Given the description of an element on the screen output the (x, y) to click on. 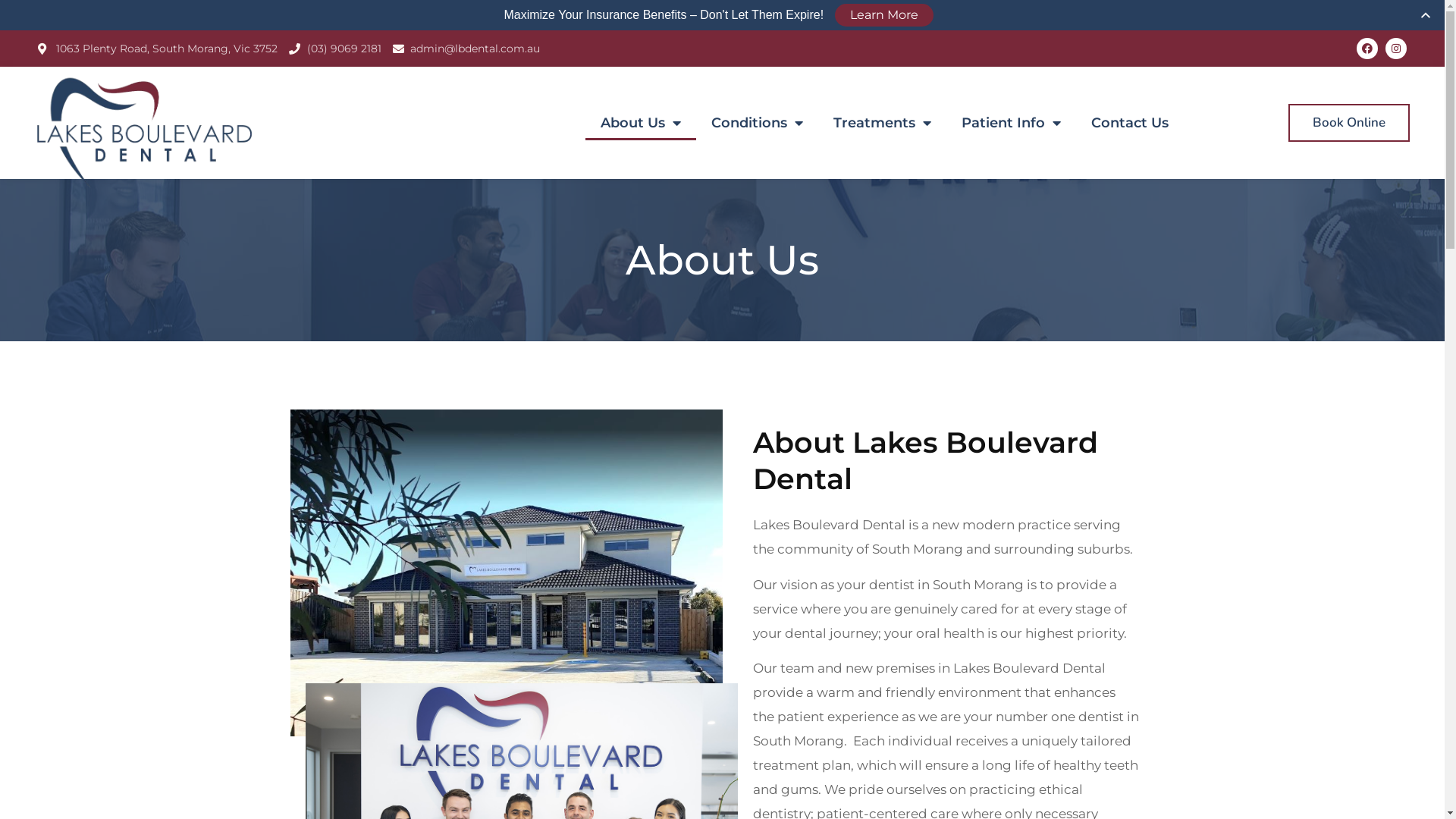
1063 Plenty Road, South Morang, Vic 3752 Element type: text (157, 48)
Patient Info Element type: text (1011, 122)
Book Online Element type: text (1348, 122)
Conditions Element type: text (757, 122)
Learn More Element type: text (883, 14)
admin@lbdental.com.au Element type: text (466, 48)
(03) 9069 2181 Element type: text (334, 48)
About Us Element type: text (640, 122)
Treatments Element type: text (882, 122)
Contact Us Element type: text (1129, 122)
